Given the description of an element on the screen output the (x, y) to click on. 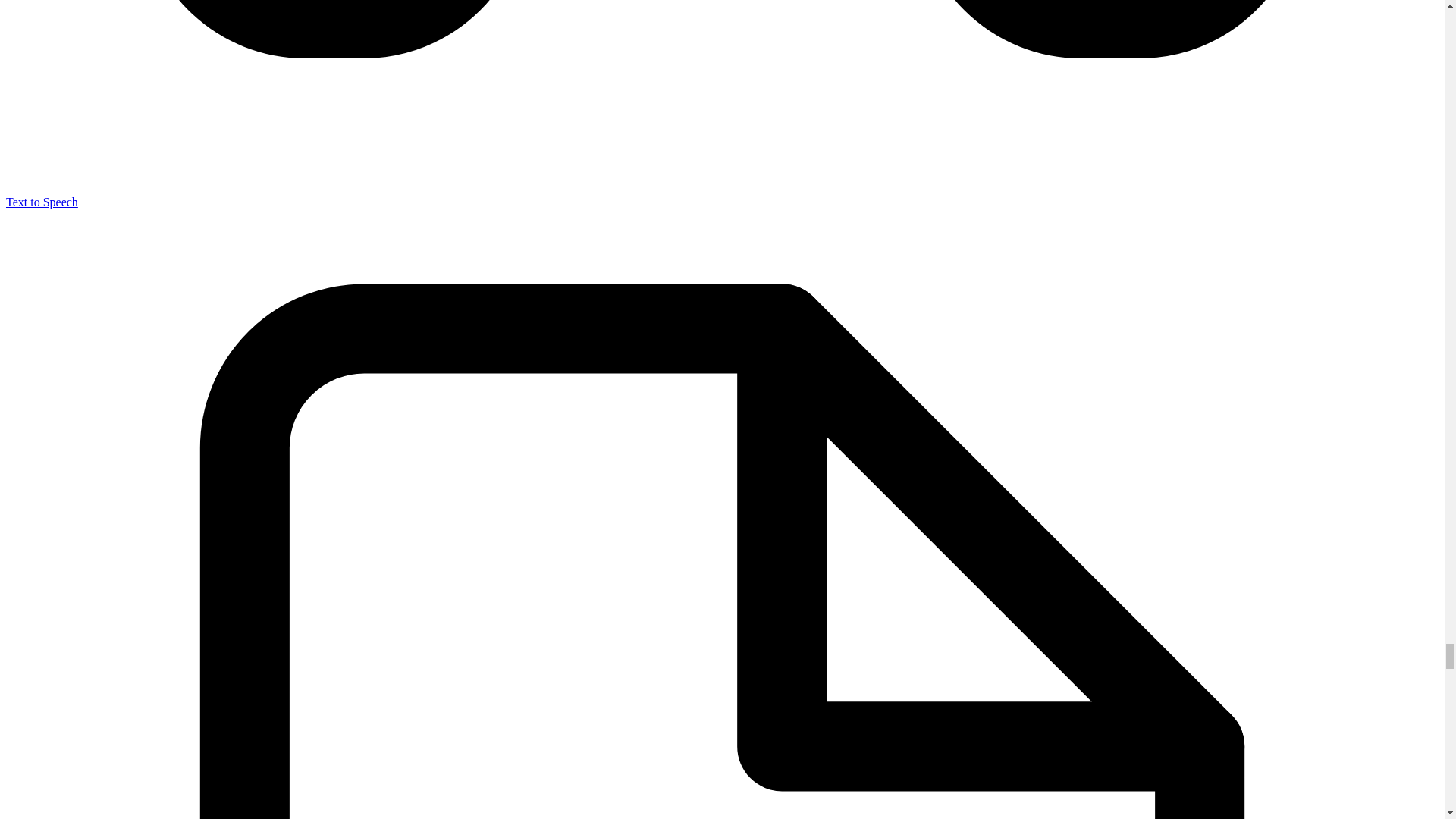
Text to Speech (41, 201)
